Given the description of an element on the screen output the (x, y) to click on. 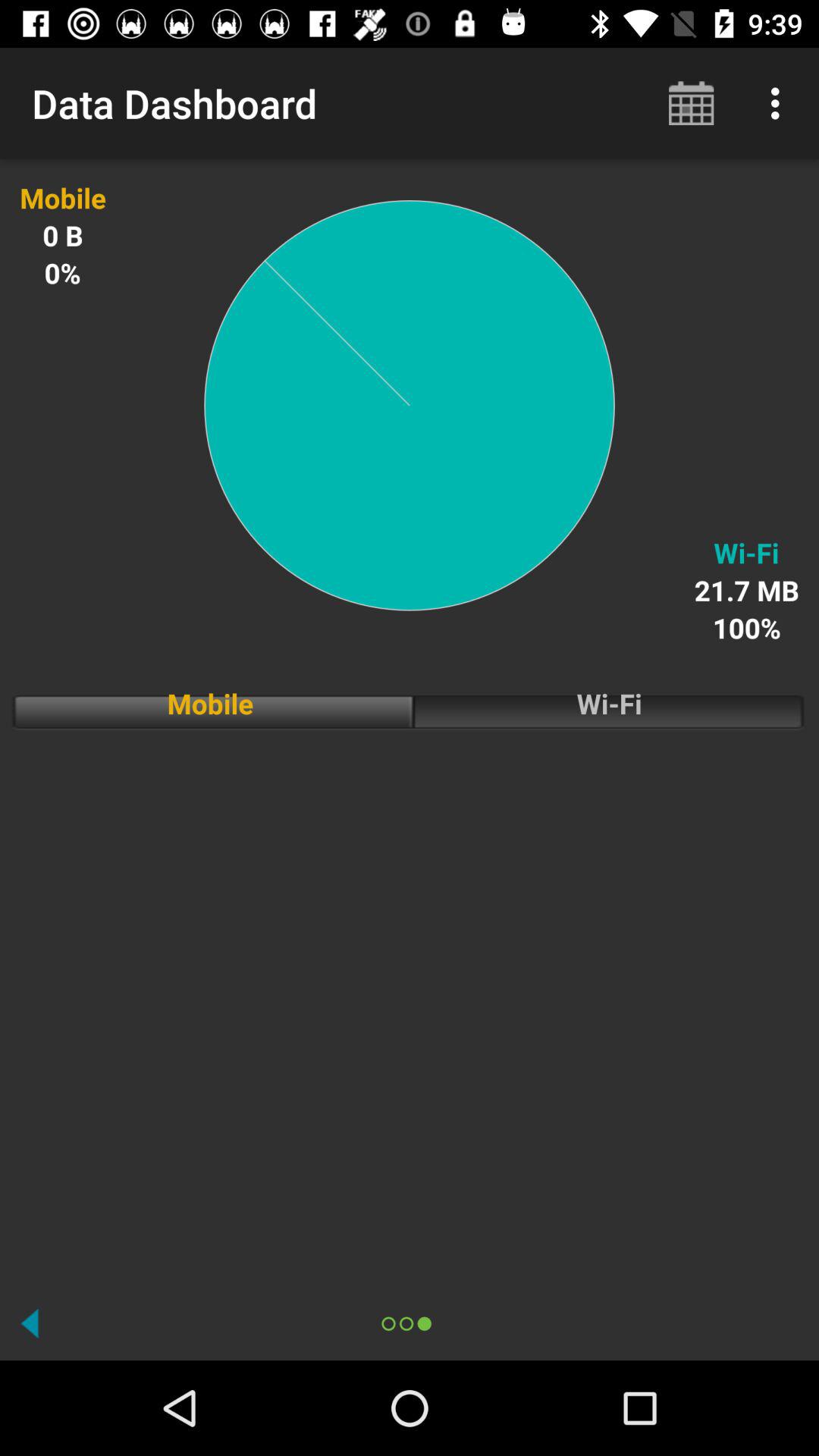
turn off the app to the right of data dashboard icon (691, 103)
